Given the description of an element on the screen output the (x, y) to click on. 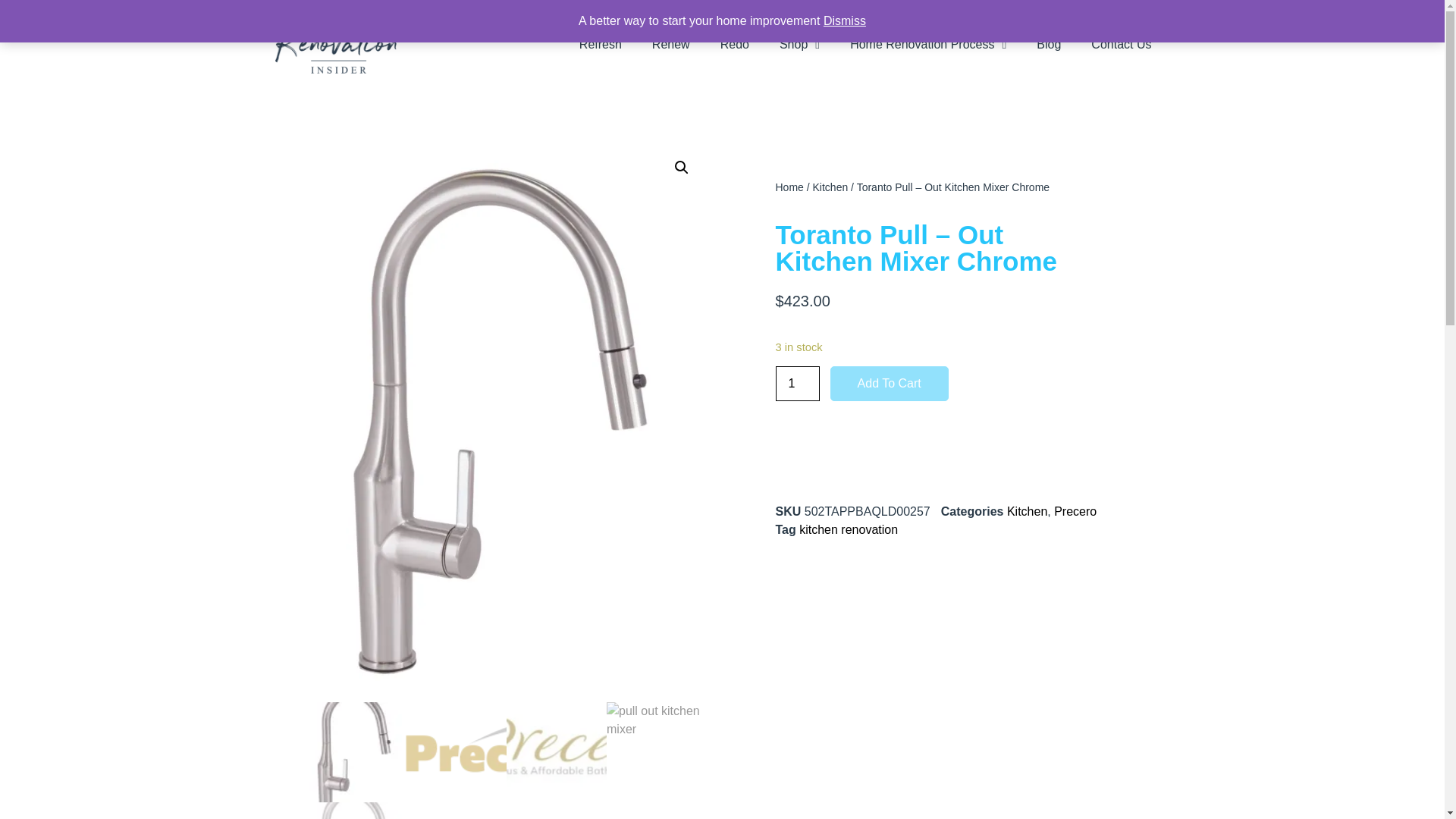
PayPal Message 1 (937, 421)
1 (796, 383)
PayPal (937, 461)
Contact Us (1120, 44)
Blog (1048, 44)
Redo (734, 44)
Shop (799, 44)
Renew (670, 44)
Home Renovation Process (928, 44)
Refresh (600, 44)
